Given the description of an element on the screen output the (x, y) to click on. 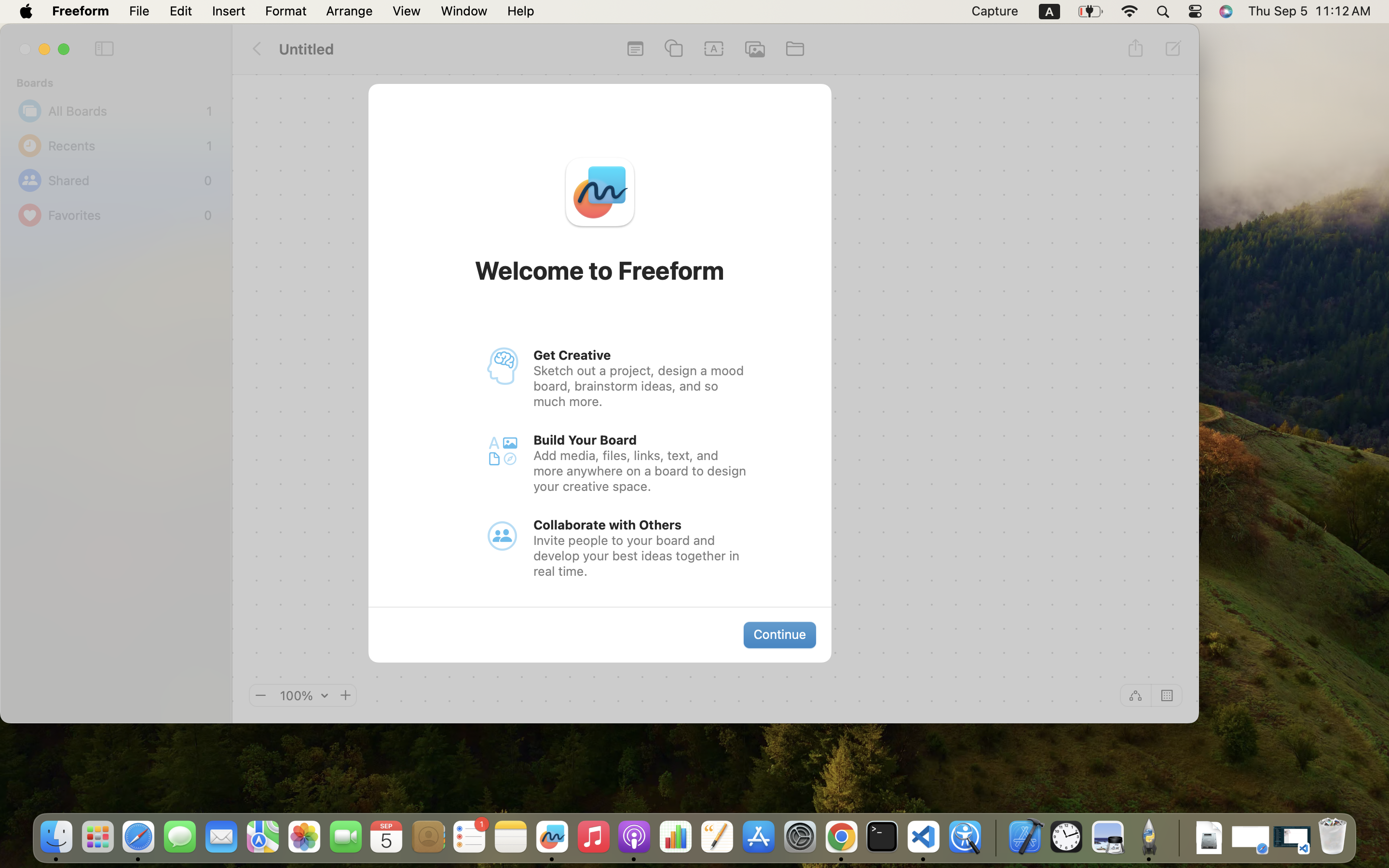
Welcome to Freeform Element type: AXStaticText (599, 270)
On Element type: AXButton (1166, 694)
Get Creative Element type: AXStaticText (571, 354)
